Given the description of an element on the screen output the (x, y) to click on. 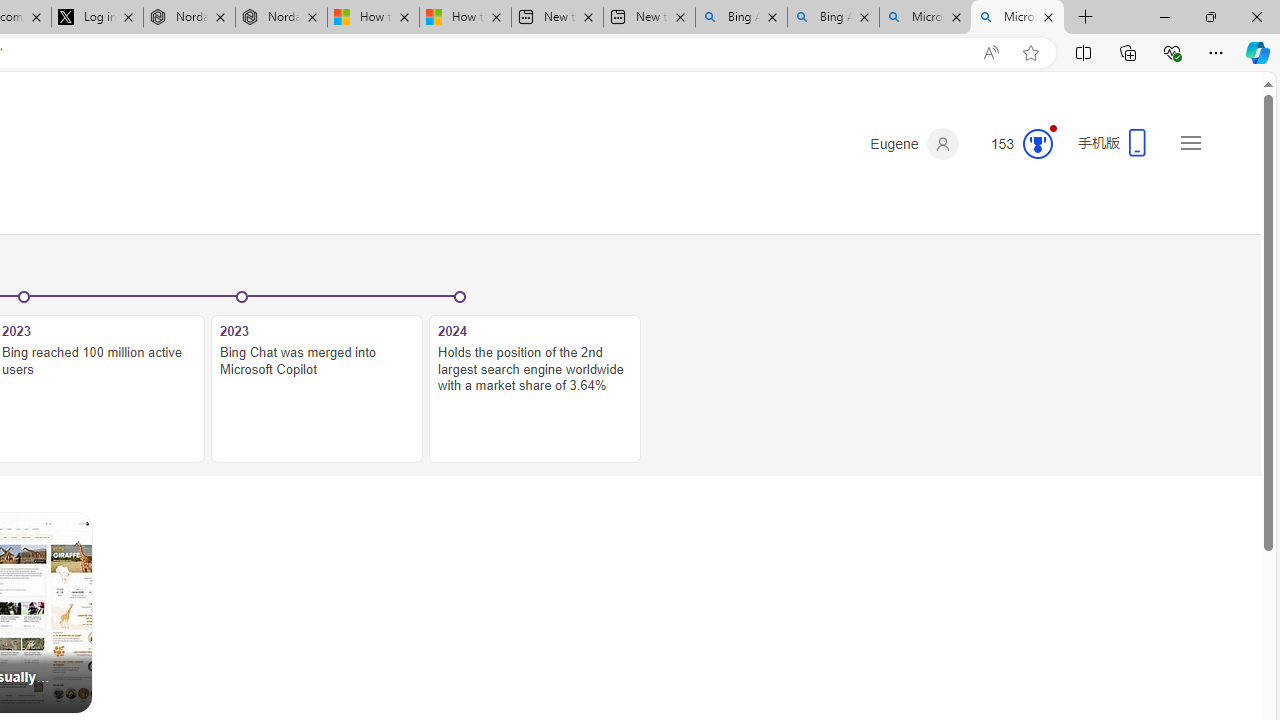
2023Bing Chat was merged into Microsoft Copilot (317, 378)
Microsoft Bing Timeline - Search (1017, 17)
Eugene (914, 143)
Bing AI - Search (833, 17)
How to Use a Monitor With Your Closed Laptop (464, 17)
